Given the description of an element on the screen output the (x, y) to click on. 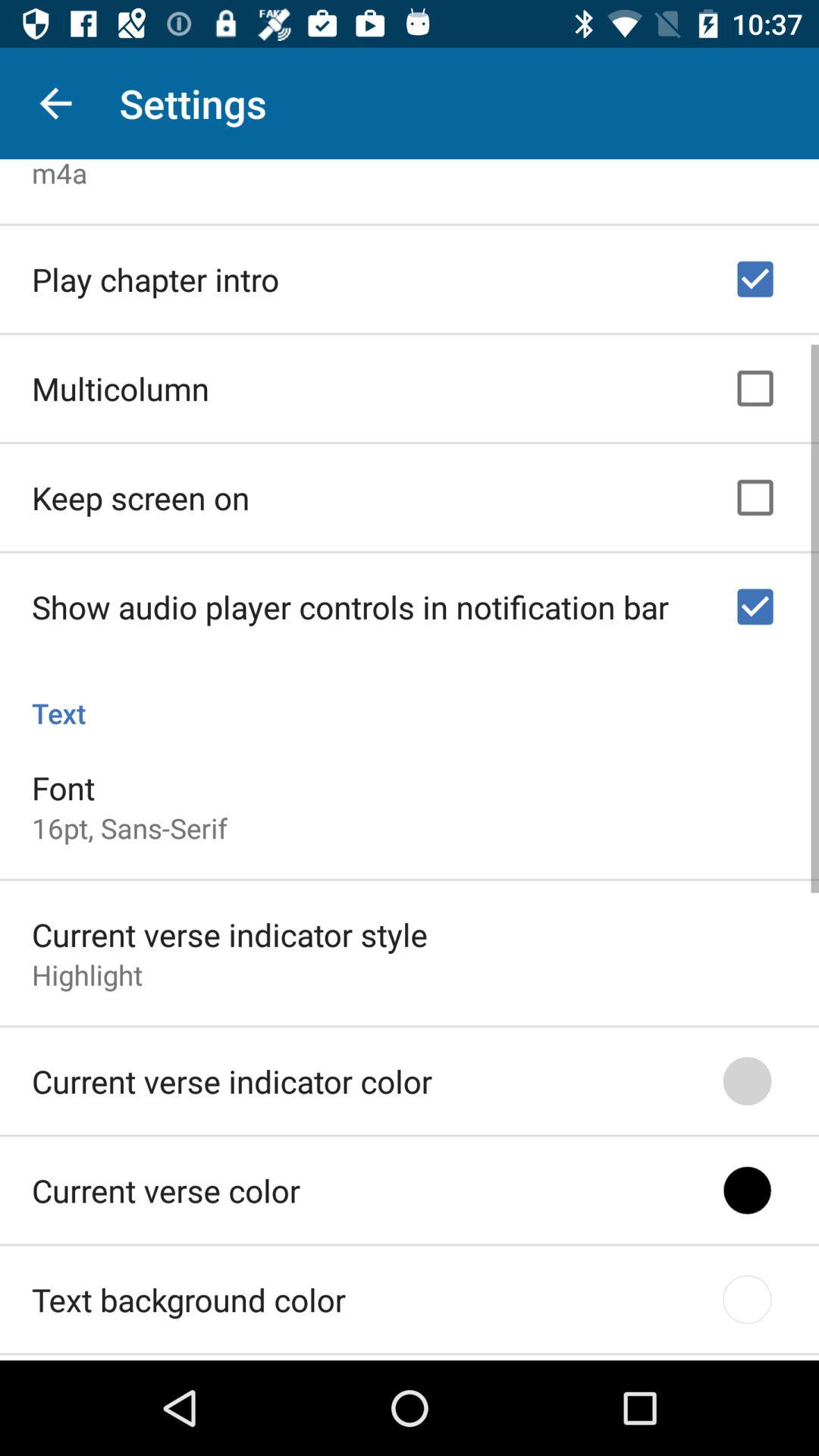
click the icon above the m4a icon (55, 103)
